Given the description of an element on the screen output the (x, y) to click on. 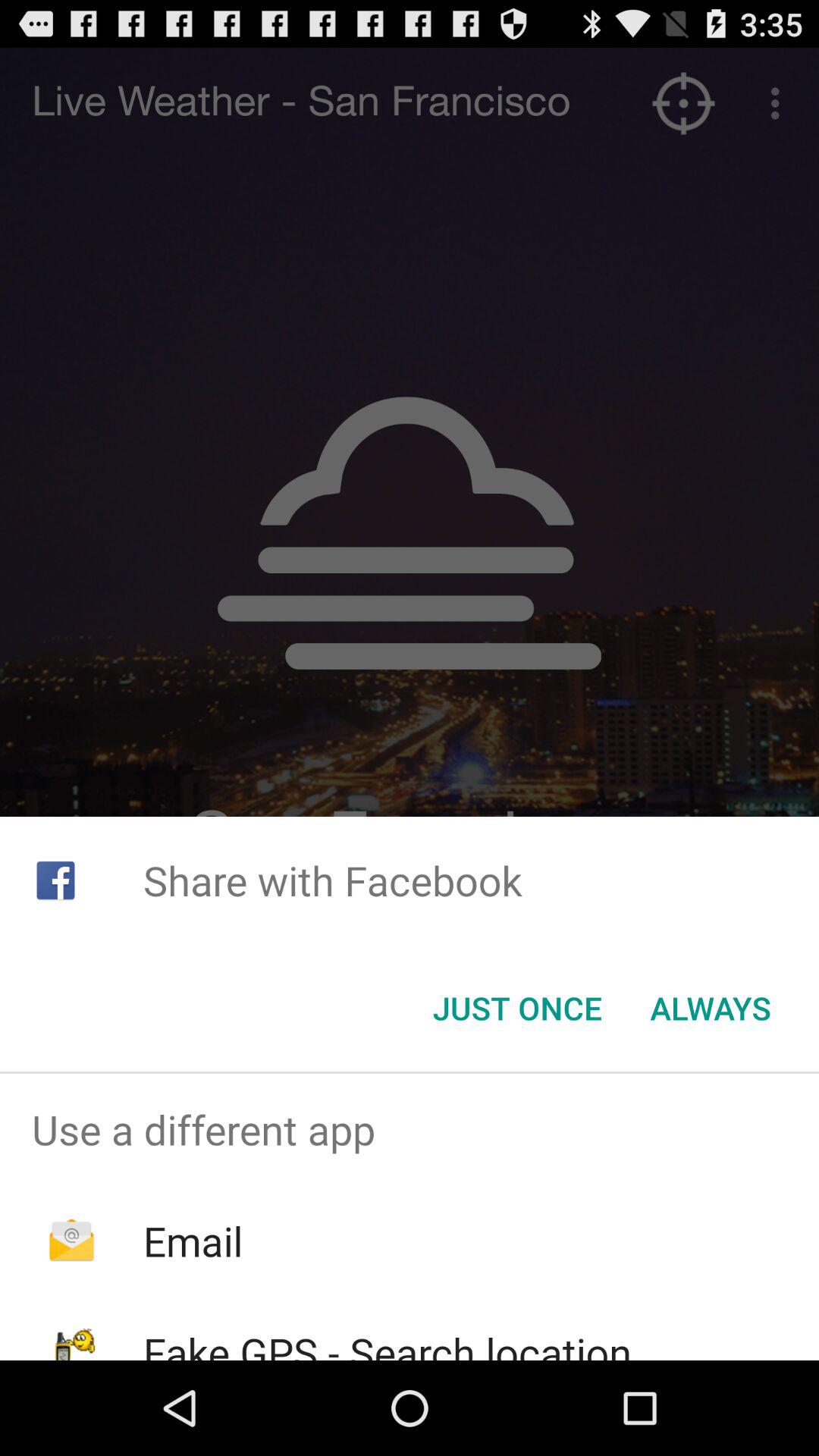
choose button next to the always (517, 1007)
